Given the description of an element on the screen output the (x, y) to click on. 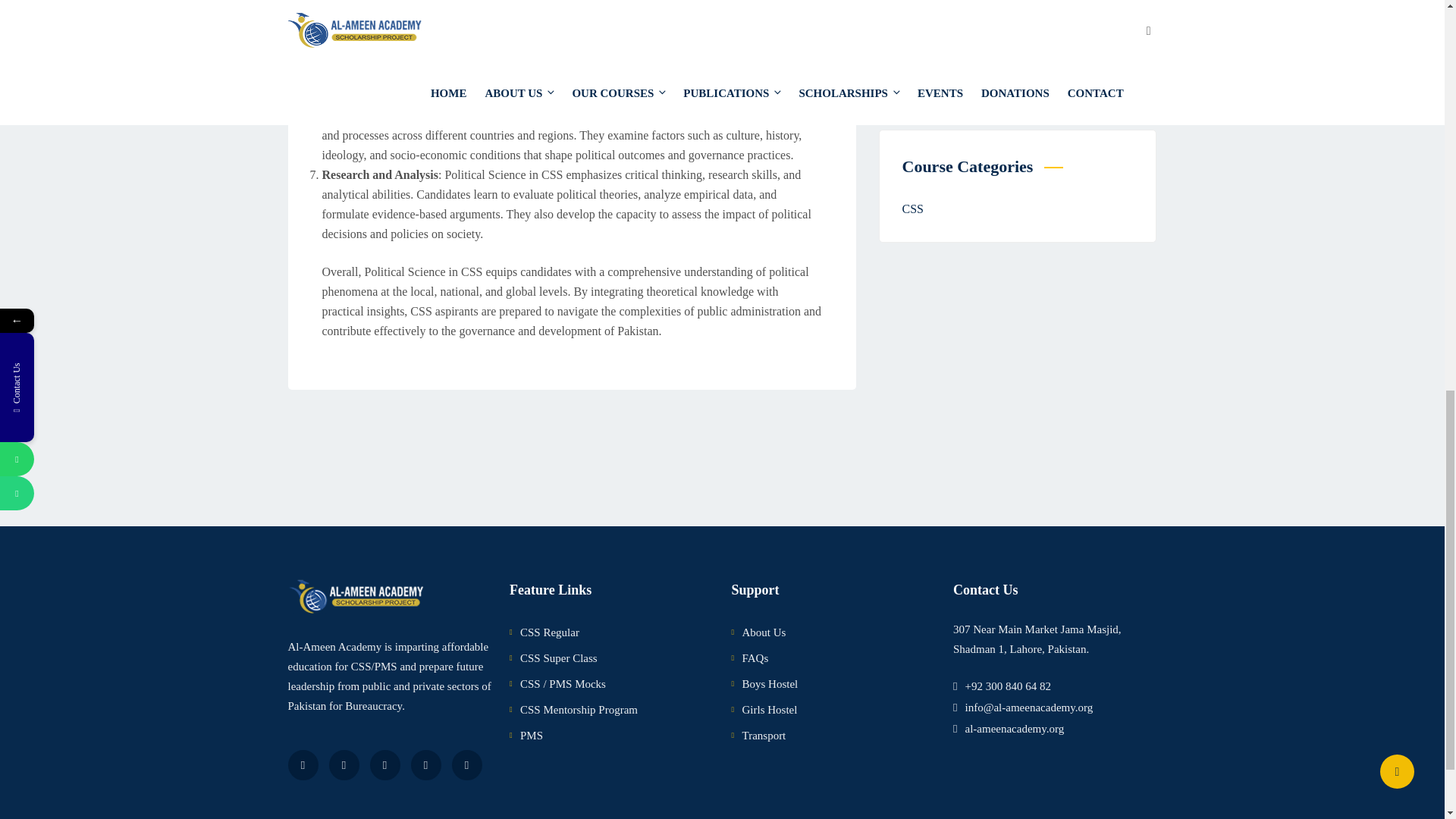
Youtube (384, 765)
Twitter (344, 765)
Facebook (303, 765)
Instagram (425, 765)
Linkedin (466, 765)
